Given the description of an element on the screen output the (x, y) to click on. 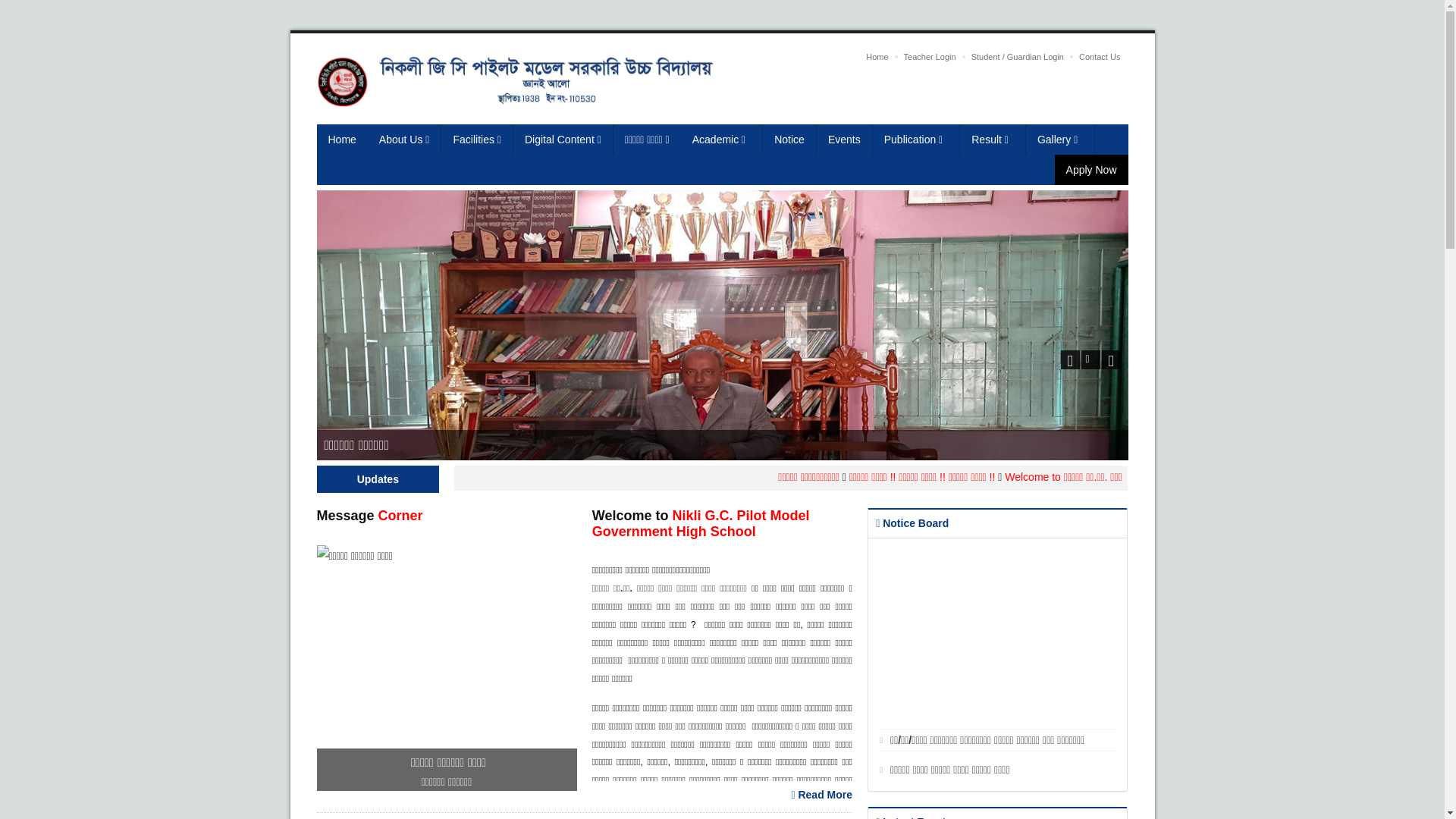
Read More Element type: text (821, 794)
Notice Element type: text (789, 139)
Student / Guardian Login Element type: text (1017, 56)
Apply Now Element type: text (1091, 169)
Events Element type: text (844, 139)
Home Element type: text (341, 139)
Home Element type: text (876, 56)
About Us Element type: text (404, 139)
Facilities Element type: text (476, 139)
Contact Us Element type: text (1099, 56)
Digital Content Element type: text (563, 139)
Gallery Element type: text (1060, 139)
Academic Element type: text (721, 139)
Result Element type: text (993, 139)
Publication Element type: text (916, 139)
Teacher Login Element type: text (929, 56)
